Given the description of an element on the screen output the (x, y) to click on. 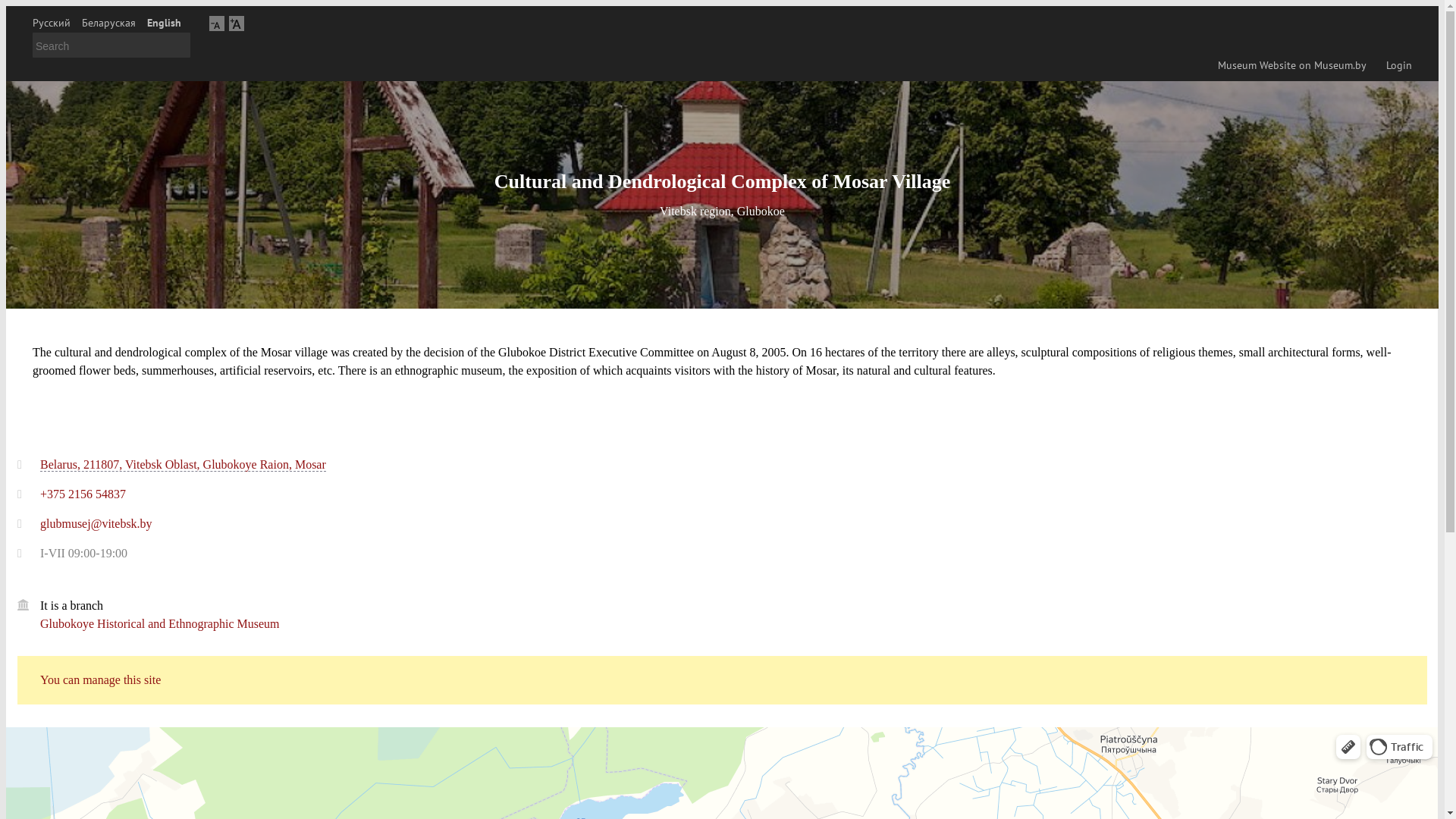
Museum Website on Museum.by Element type: text (1288, 65)
You can manage this site Element type: text (722, 679)
A Element type: text (216, 22)
+375 2156 54837 Element type: text (82, 494)
A Element type: text (236, 22)
glubmusej@vitebsk.by Element type: text (96, 523)
Login Element type: text (1396, 65)
It is a branch
Glubokoye Historical and Ethnographic Museum Element type: text (733, 625)
Skip to main content Element type: text (6, 6)
Belarus, 211807, Vitebsk Oblast, Glubokoye Raion, Mosar Element type: text (183, 464)
Cultural and Dendrological Complex of Mosar Village Element type: text (722, 181)
Enter the terms you wish to search for. Element type: hover (111, 44)
English Element type: text (164, 23)
